Given the description of an element on the screen output the (x, y) to click on. 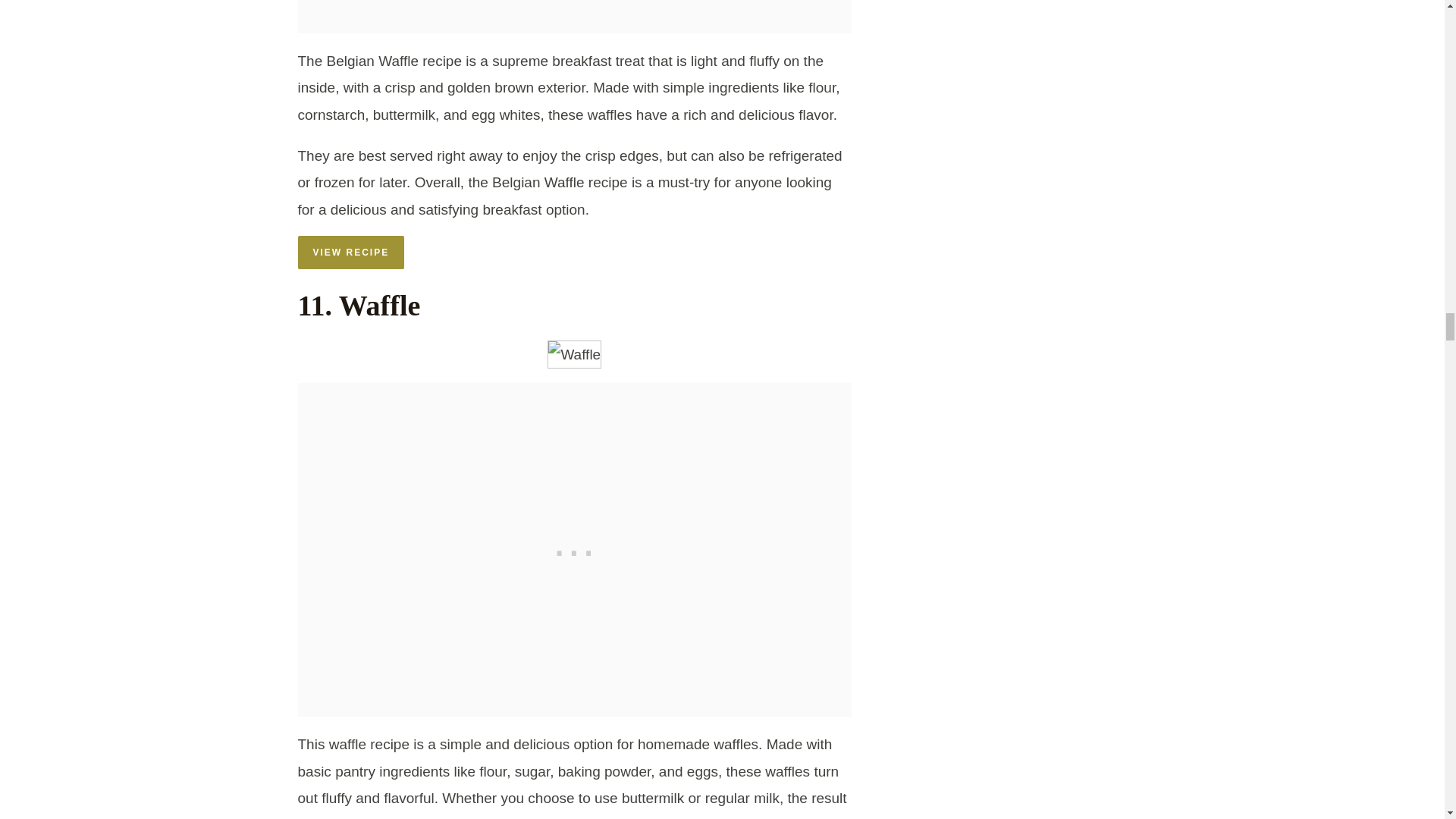
VIEW RECIPE (350, 252)
Waffle (574, 354)
